Given the description of an element on the screen output the (x, y) to click on. 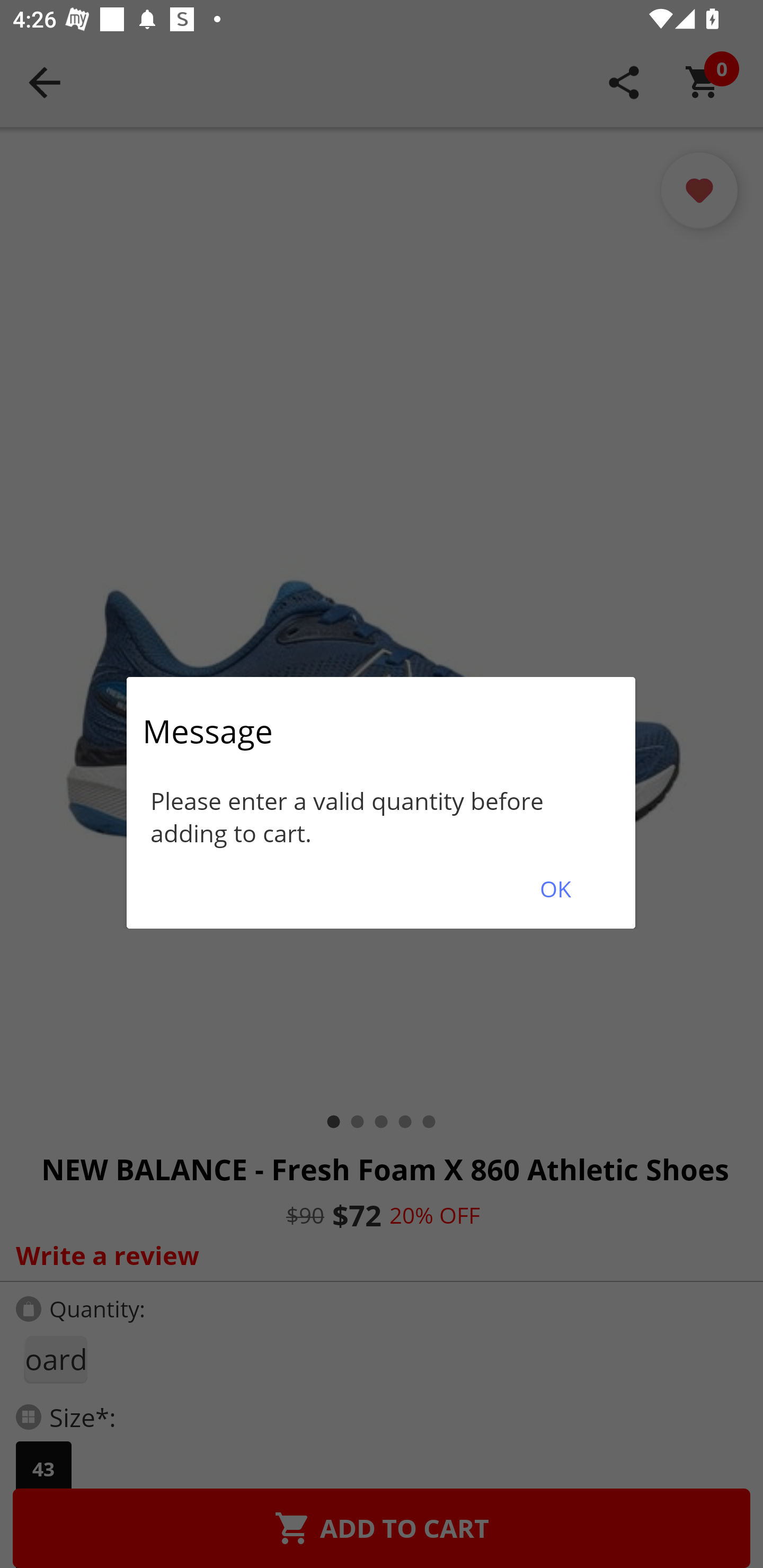
OK (555, 888)
